Given the description of an element on the screen output the (x, y) to click on. 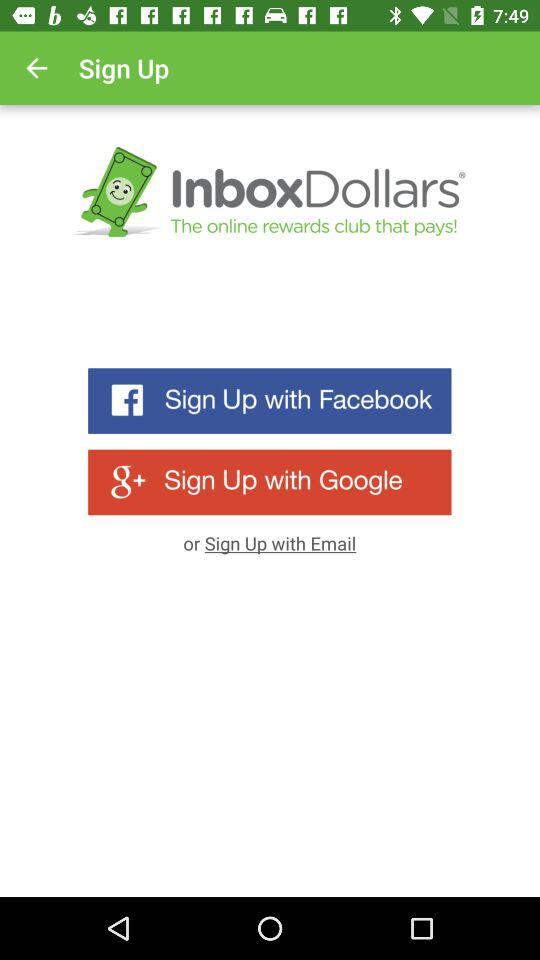
click icon next to sign up (36, 68)
